Given the description of an element on the screen output the (x, y) to click on. 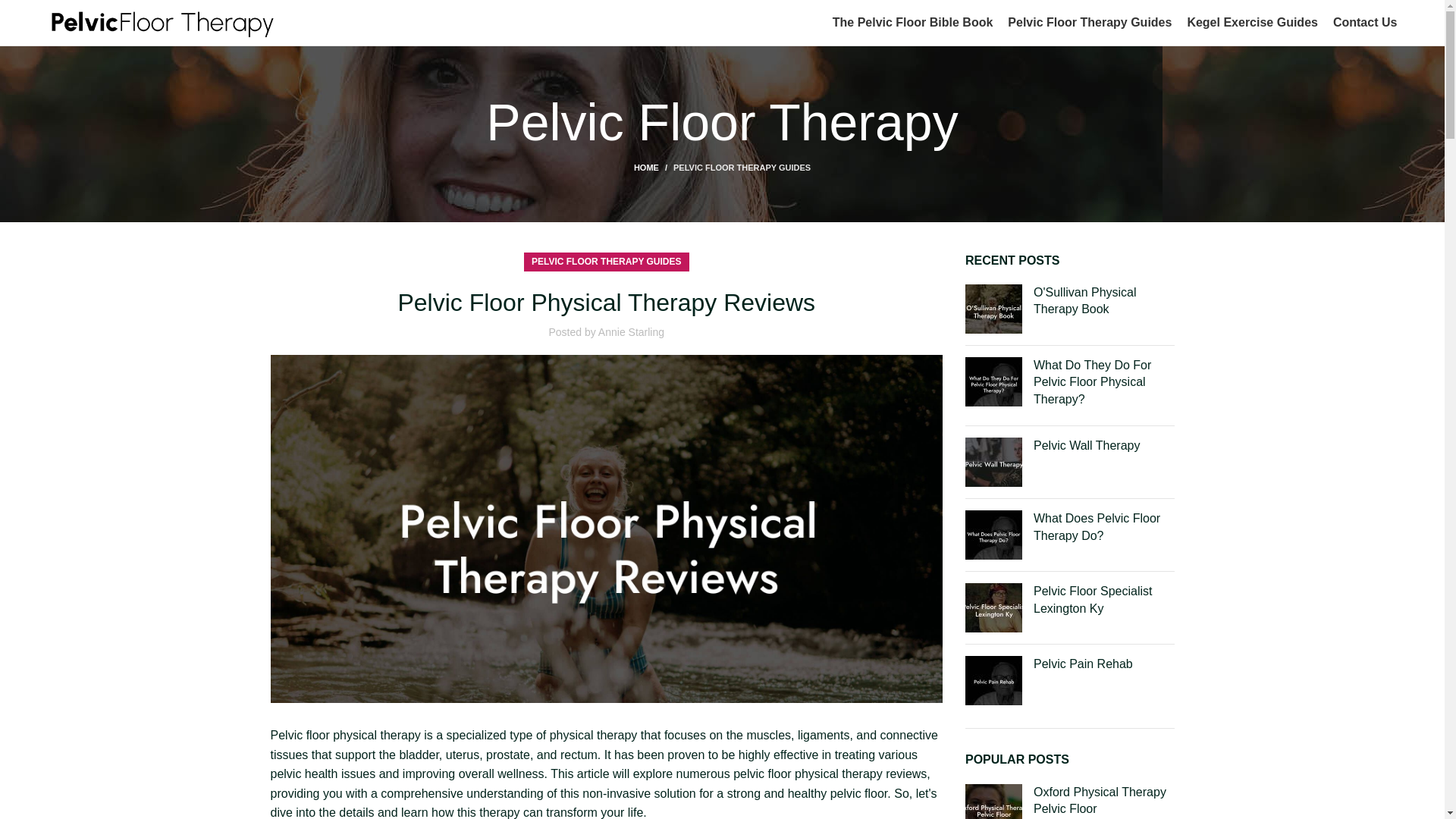
Contact Us (1364, 22)
PELVIC FLOOR THERAPY GUIDES (606, 261)
Pelvic Floor Therapy Guides (1089, 22)
The Pelvic Floor Bible Book (912, 22)
Annie Starling (630, 331)
HOME (652, 167)
PELVIC FLOOR THERAPY GUIDES (741, 166)
Kegel Exercise Guides (1251, 22)
